Given the description of an element on the screen output the (x, y) to click on. 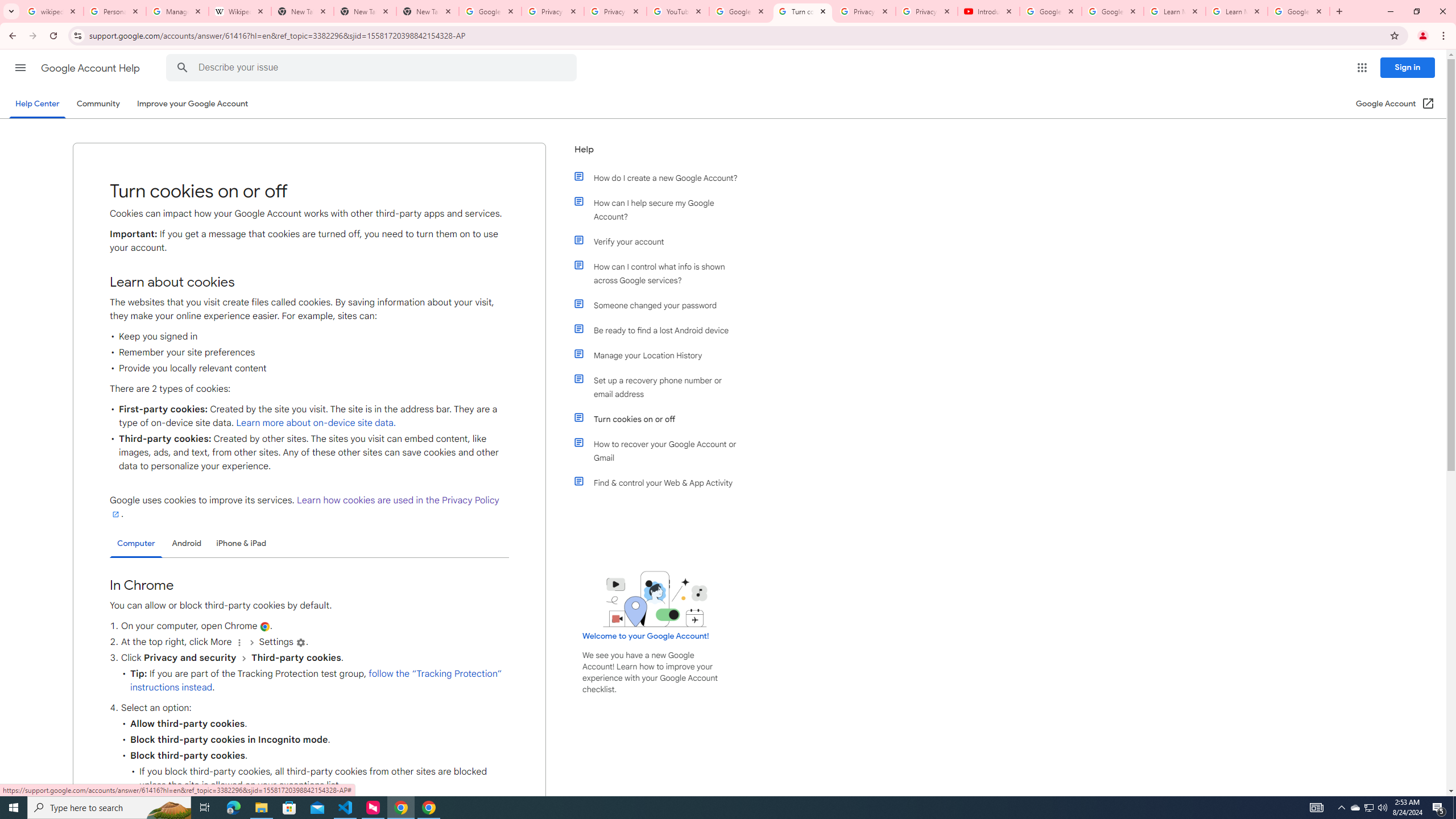
Manage your Location History (661, 355)
and then (243, 657)
Find & control your Web & App Activity (661, 482)
Android (186, 542)
Google Drive: Sign-in (490, 11)
Help (656, 153)
How can I help secure my Google Account? (661, 209)
Settings (301, 642)
YouTube (678, 11)
